Given the description of an element on the screen output the (x, y) to click on. 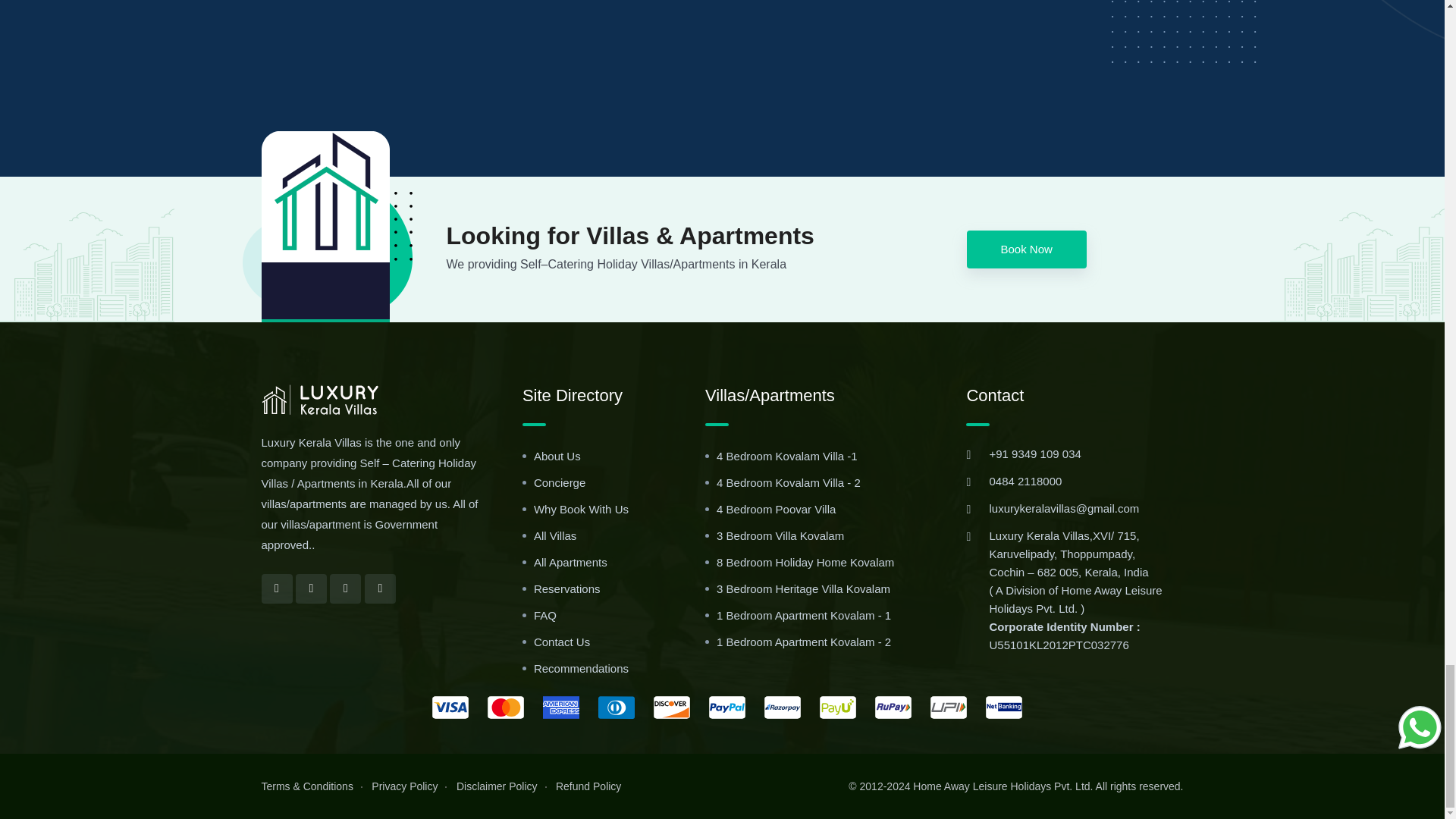
UPI (948, 707)
Discover (671, 707)
Visa (450, 707)
PayPal (727, 707)
Diners Club (616, 707)
RazorPay (782, 707)
American Express (561, 707)
PayU (837, 707)
RuPay (893, 707)
Master (505, 707)
NetBanking (1003, 707)
